Given the description of an element on the screen output the (x, y) to click on. 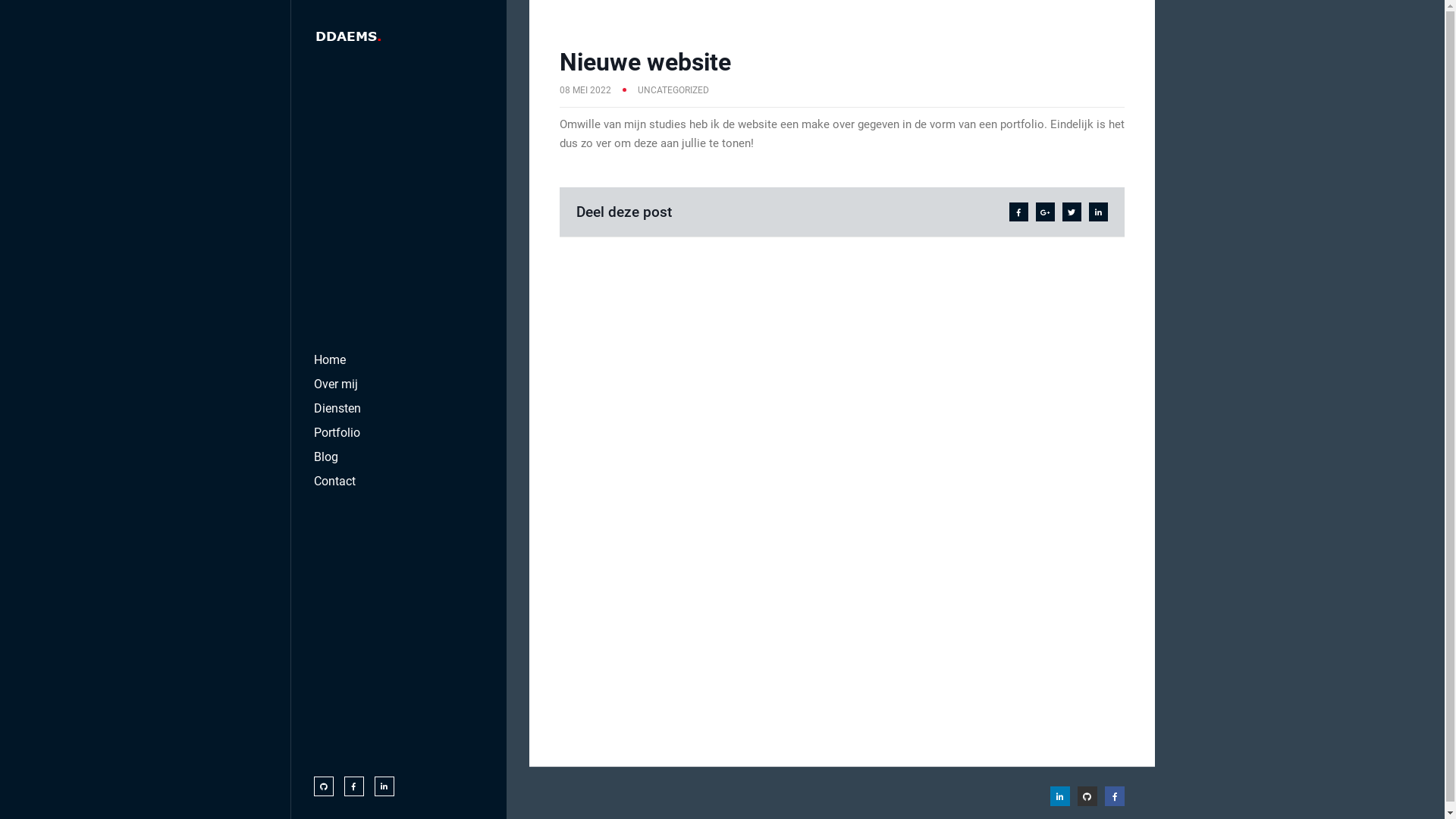
Blog Element type: text (325, 455)
Over mij Element type: text (335, 383)
Share post on Google+ Element type: hover (1044, 211)
Home Element type: text (329, 358)
Share post on Linkedin Element type: hover (1097, 211)
Diensten Element type: text (336, 407)
Contact Element type: text (334, 480)
Portfolio Element type: text (336, 431)
Share post on Facebook Element type: hover (1017, 211)
UNCATEGORIZED Element type: text (672, 89)
Share post on Twitter Element type: hover (1070, 211)
